Given the description of an element on the screen output the (x, y) to click on. 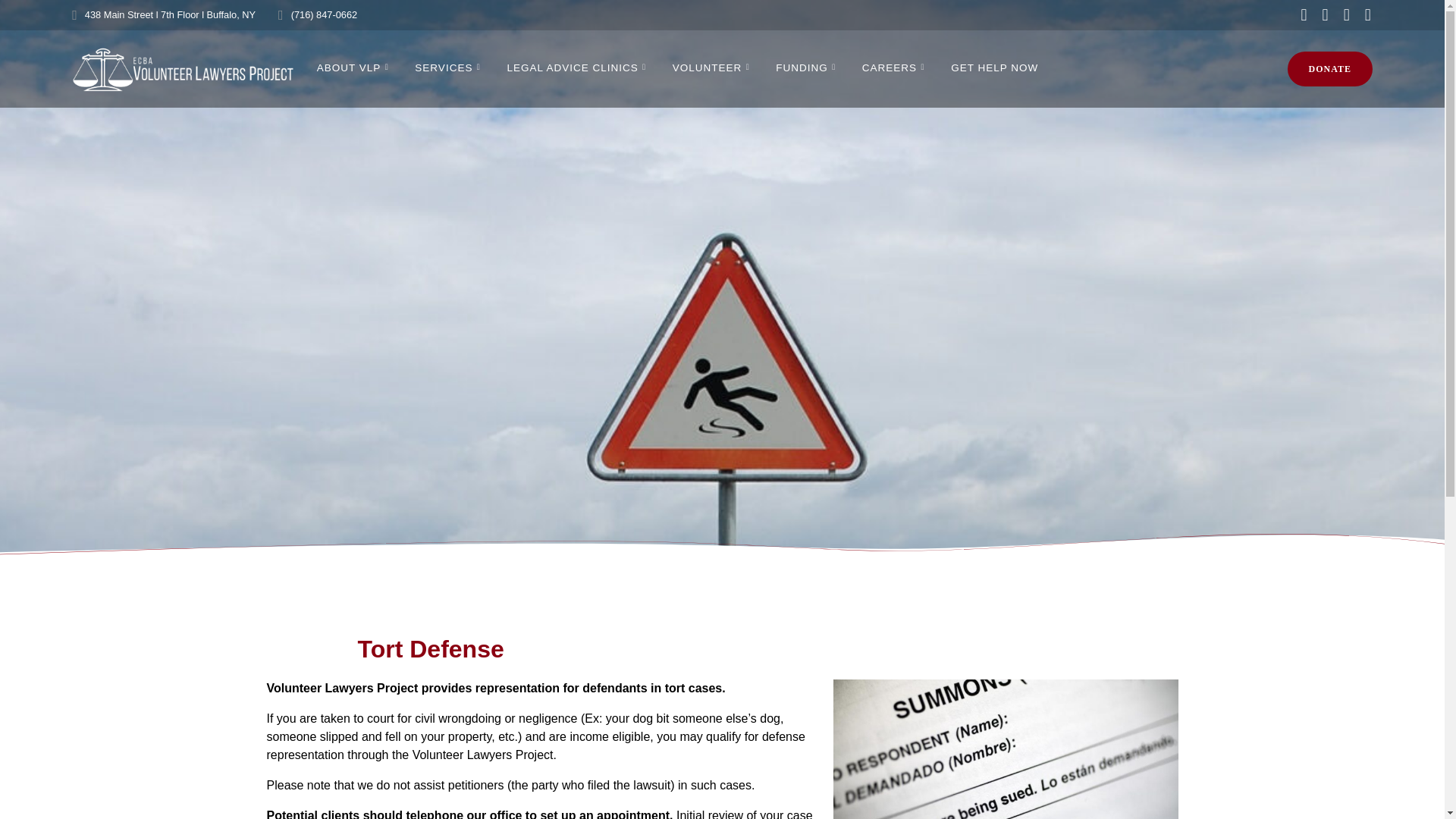
SERVICES (450, 68)
FUNDING (808, 68)
ABOUT VLP (355, 68)
VOLUNTEER (713, 68)
LEGAL ADVICE CLINICS (578, 68)
